Given the description of an element on the screen output the (x, y) to click on. 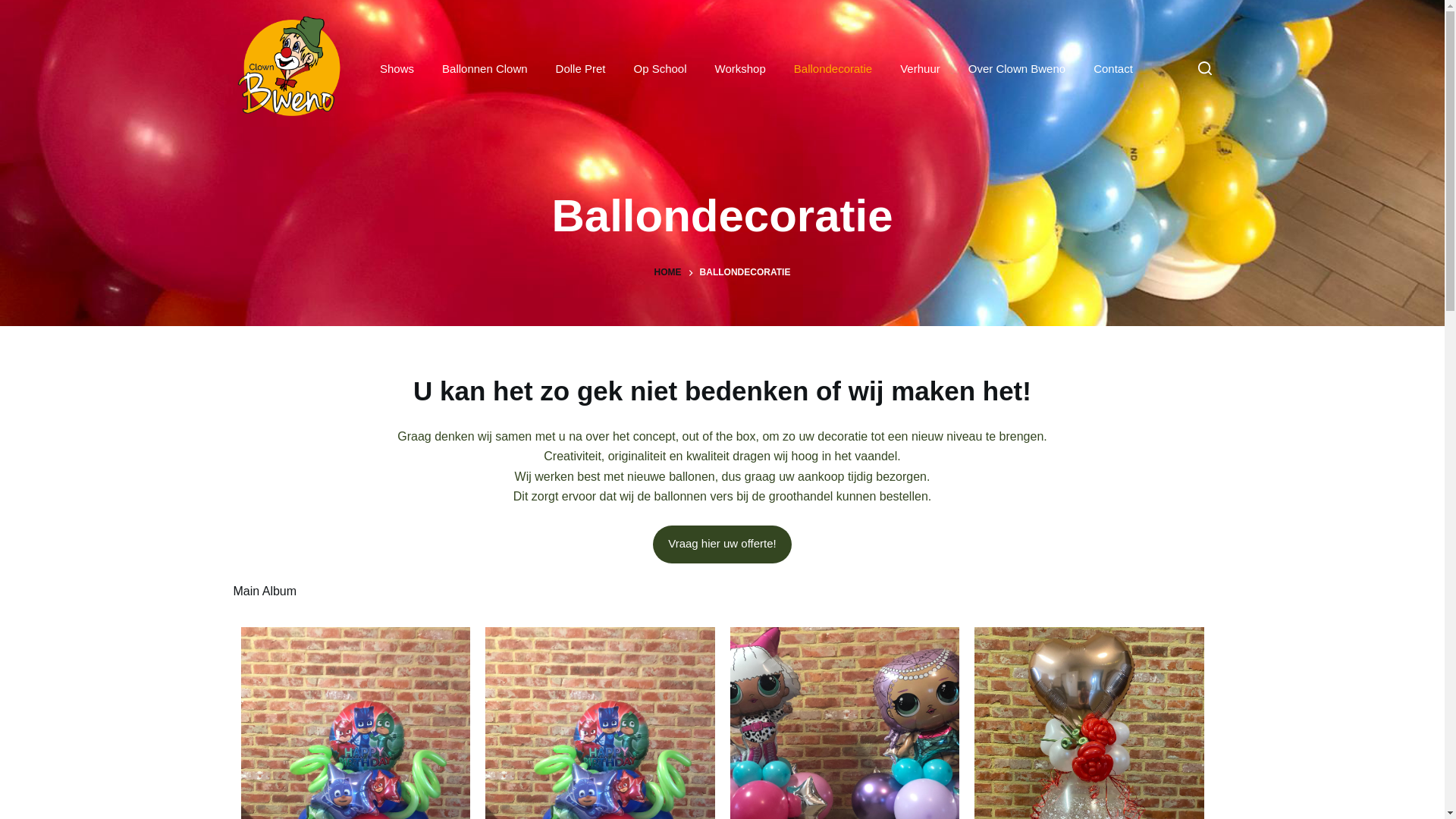
Op School Element type: text (659, 67)
Workshop Element type: text (739, 67)
Ballondecoratie Element type: text (832, 67)
Main Album Element type: text (265, 590)
Ballonnen Clown Element type: text (485, 67)
Shows Element type: text (396, 67)
Verhuur Element type: text (920, 67)
Contact Element type: text (1113, 67)
Dolle Pret Element type: text (580, 67)
Skip to content Element type: text (15, 7)
Vraag hier uw offerte! Element type: text (721, 544)
HOME Element type: text (667, 272)
Over Clown Bweno Element type: text (1016, 67)
